Given the description of an element on the screen output the (x, y) to click on. 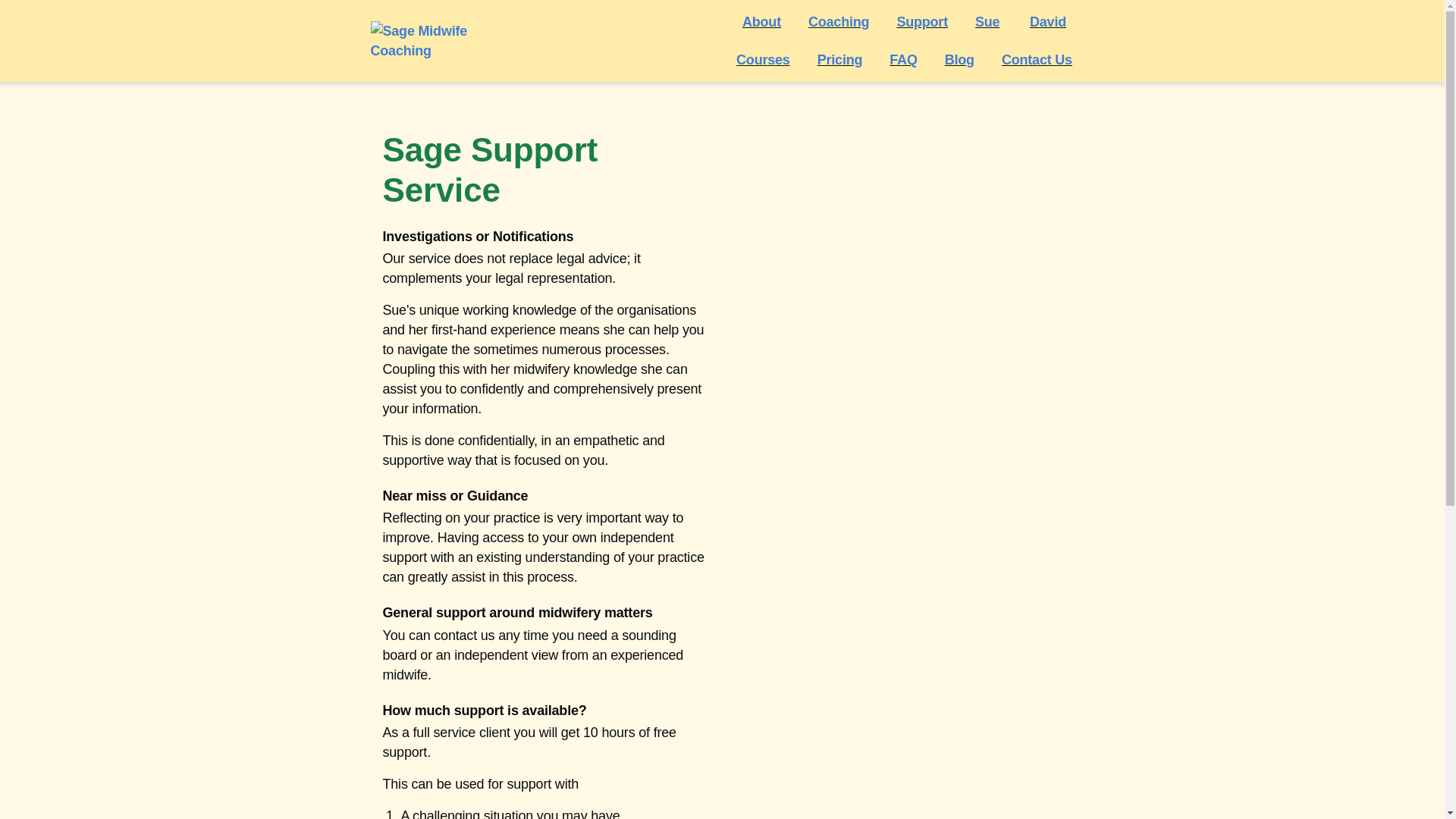
Contact Us (1037, 59)
Coaching (838, 21)
Courses (763, 59)
Sue (989, 21)
About (762, 21)
David (1047, 21)
Blog (959, 59)
Support (921, 21)
FAQ (903, 59)
Pricing (839, 59)
